Given the description of an element on the screen output the (x, y) to click on. 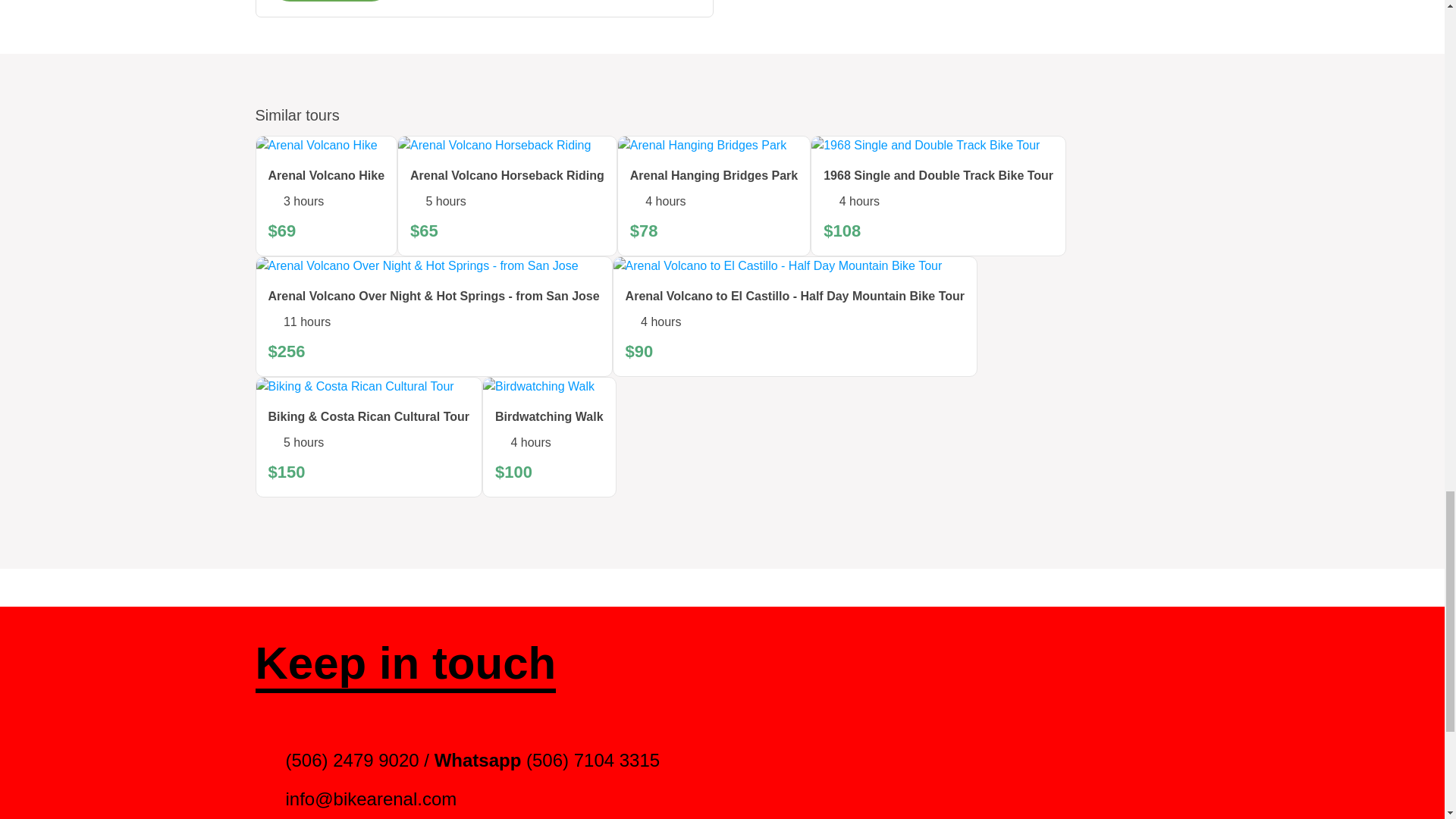
Youtube (1094, 663)
Arenal Volcano Hike (326, 176)
Facebook (975, 663)
Arenal Volcano Horseback Riding (507, 176)
Book Ticket now (330, 0)
Instagram (1035, 663)
